Given the description of an element on the screen output the (x, y) to click on. 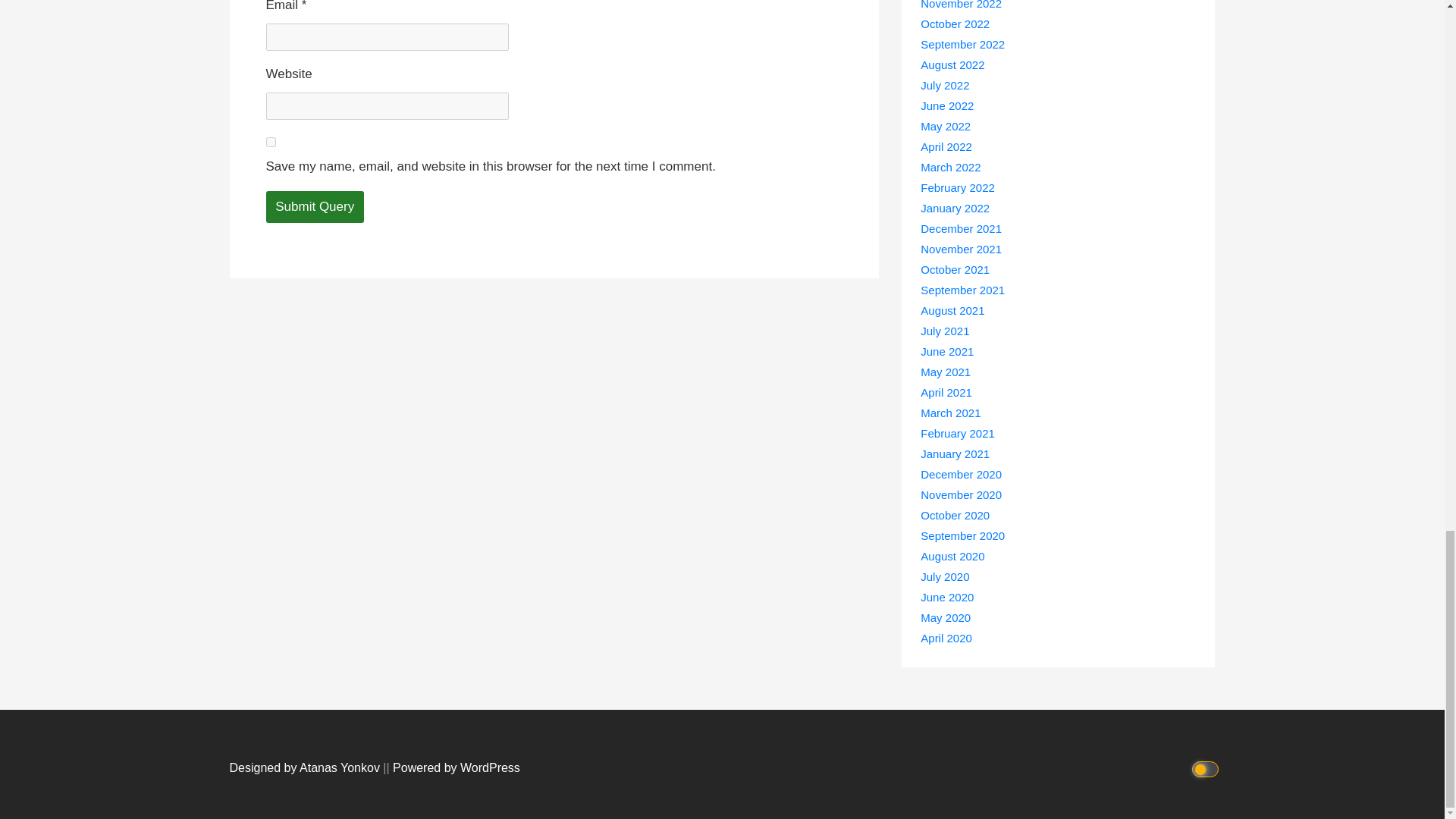
Submit Query (313, 206)
yes (269, 142)
Submit Query (313, 206)
